Given the description of an element on the screen output the (x, y) to click on. 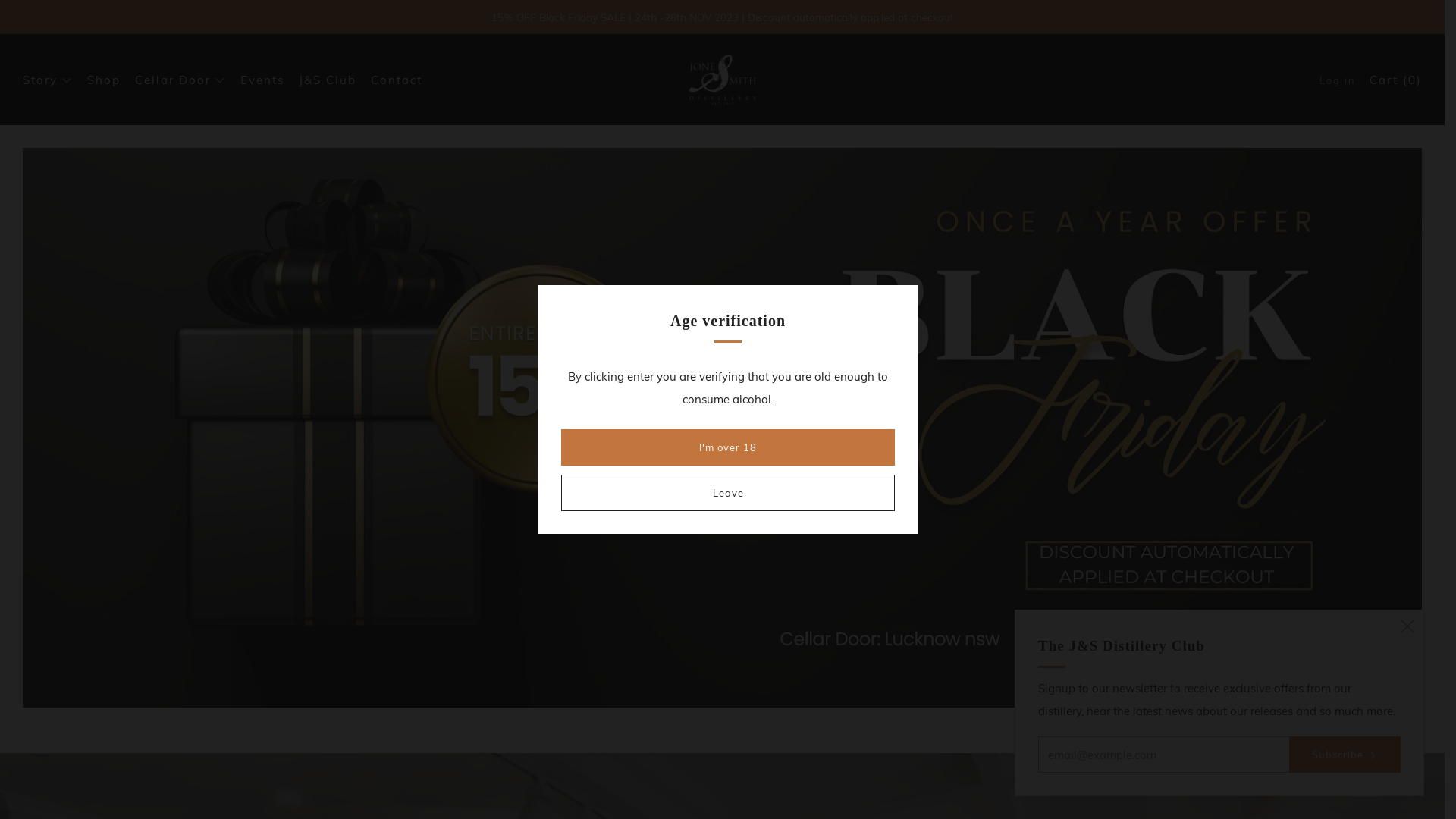
Cellar Door Element type: text (179, 80)
Log in Element type: text (1337, 80)
Leave Element type: text (727, 492)
J&S Club Element type: text (327, 80)
Shop Element type: text (103, 80)
I'm over 18 Element type: text (727, 447)
Events Element type: text (262, 80)
Cart (0) Element type: text (1395, 80)
Story Element type: text (47, 80)
Close (esc) Element type: text (1407, 626)
Subscribe Element type: text (1344, 754)
Contact Element type: text (396, 80)
